Given the description of an element on the screen output the (x, y) to click on. 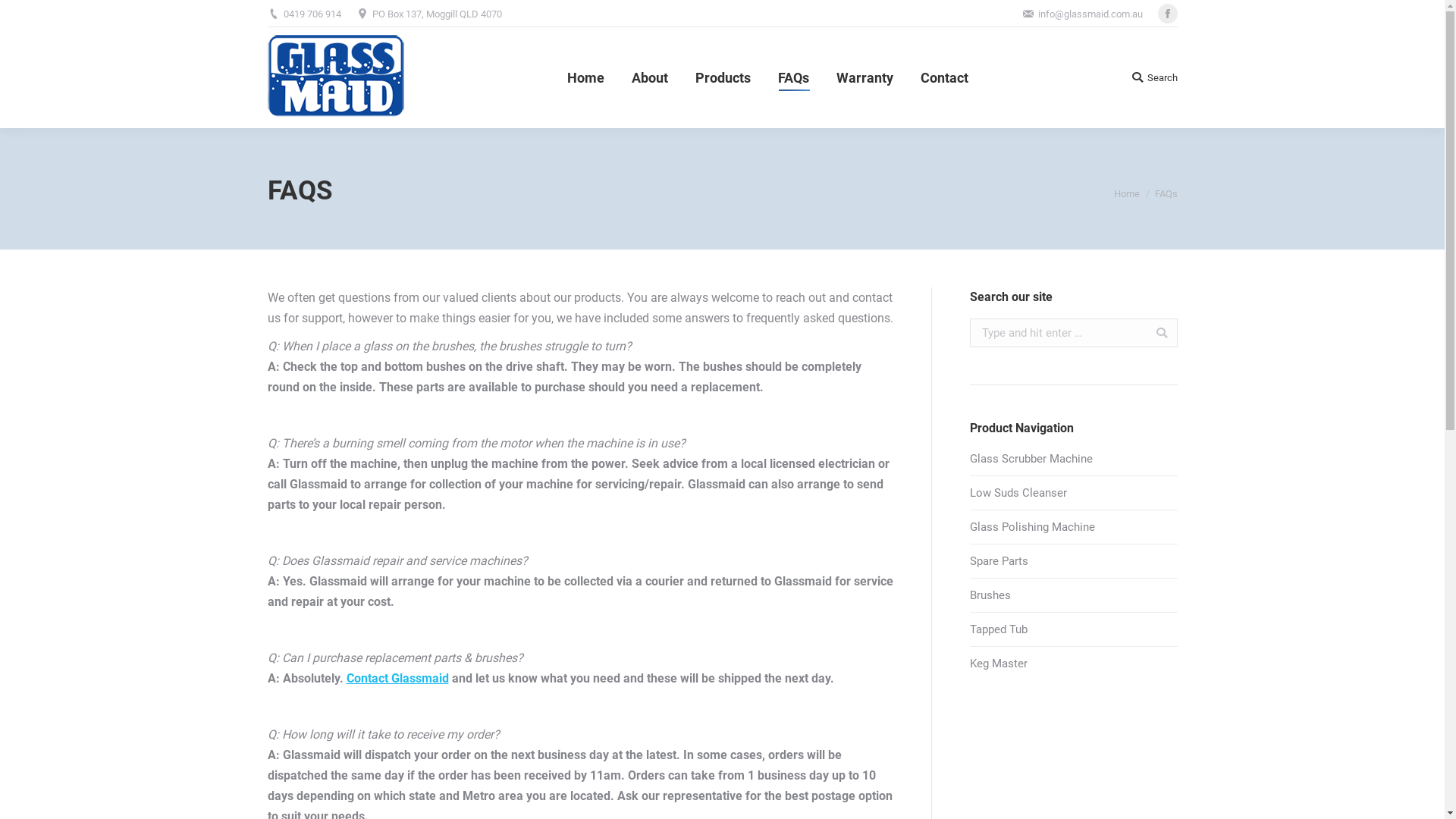
Brushes Element type: text (989, 595)
Glass Scrubber Machine Element type: text (1030, 458)
Keg Master Element type: text (997, 663)
Spare Parts Element type: text (998, 561)
Contact Element type: text (944, 77)
Facebook Element type: text (1166, 13)
Search Element type: text (1154, 77)
FAQs Element type: text (793, 77)
Go! Element type: text (21, 14)
About Element type: text (648, 77)
Go! Element type: text (1155, 332)
Contact Glassmaid Element type: text (396, 678)
Low Suds Cleanser Element type: text (1017, 492)
Home Element type: text (1126, 193)
Warranty Element type: text (863, 77)
Home Element type: text (585, 77)
Products Element type: text (722, 77)
Glass Polishing Machine Element type: text (1031, 526)
Tapped Tub Element type: text (997, 629)
